Given the description of an element on the screen output the (x, y) to click on. 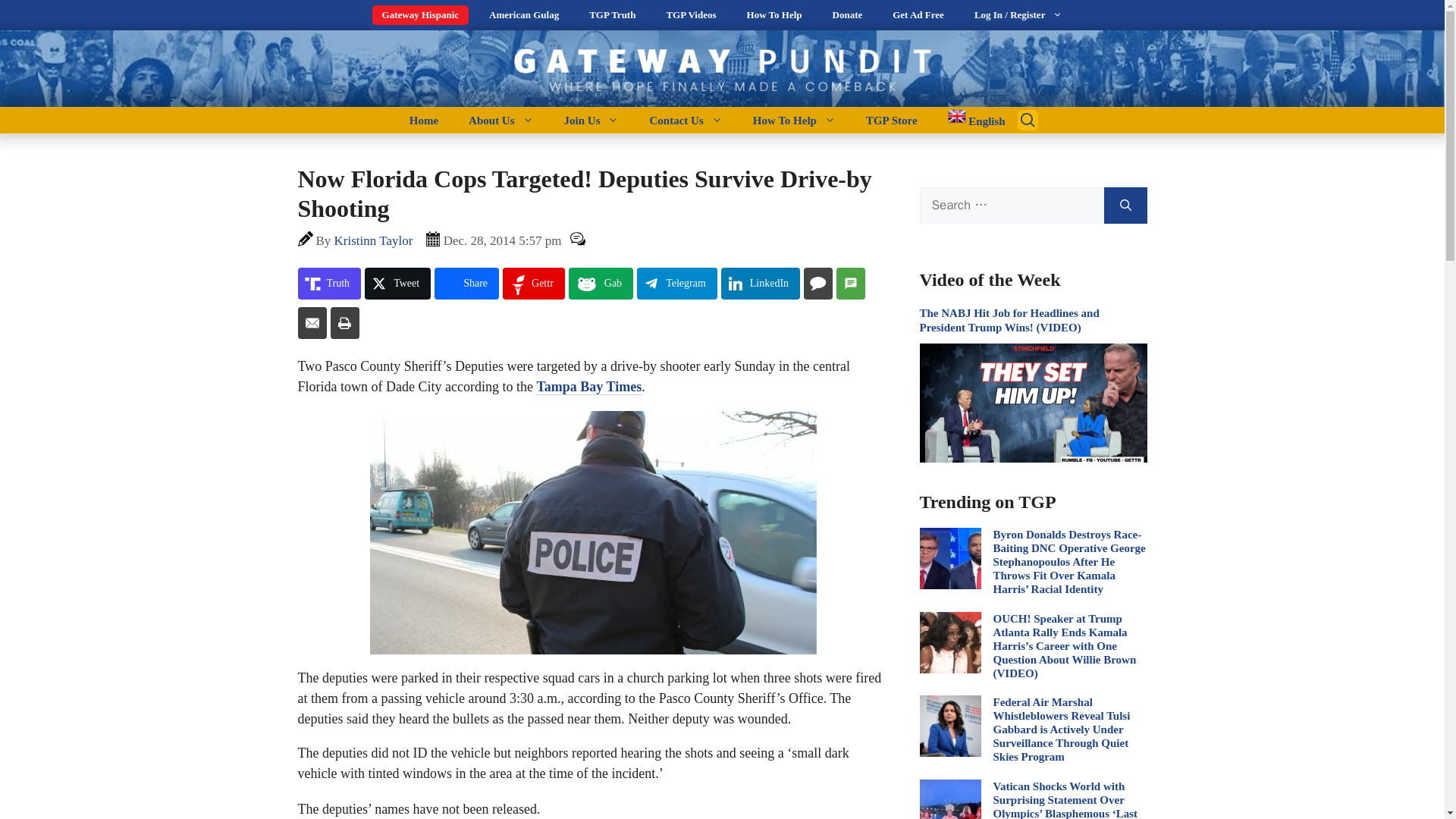
American Gulag (523, 15)
Home (423, 120)
Share on LinkedIn (759, 283)
TGP Videos (690, 15)
Share on Gab (601, 283)
TGP Truth (611, 15)
Share on Tweet (397, 283)
Gateway Hispanic (420, 15)
Share on Gettr (533, 283)
Get Ad Free (918, 15)
How To Help (774, 15)
Share on Share (466, 283)
